Given the description of an element on the screen output the (x, y) to click on. 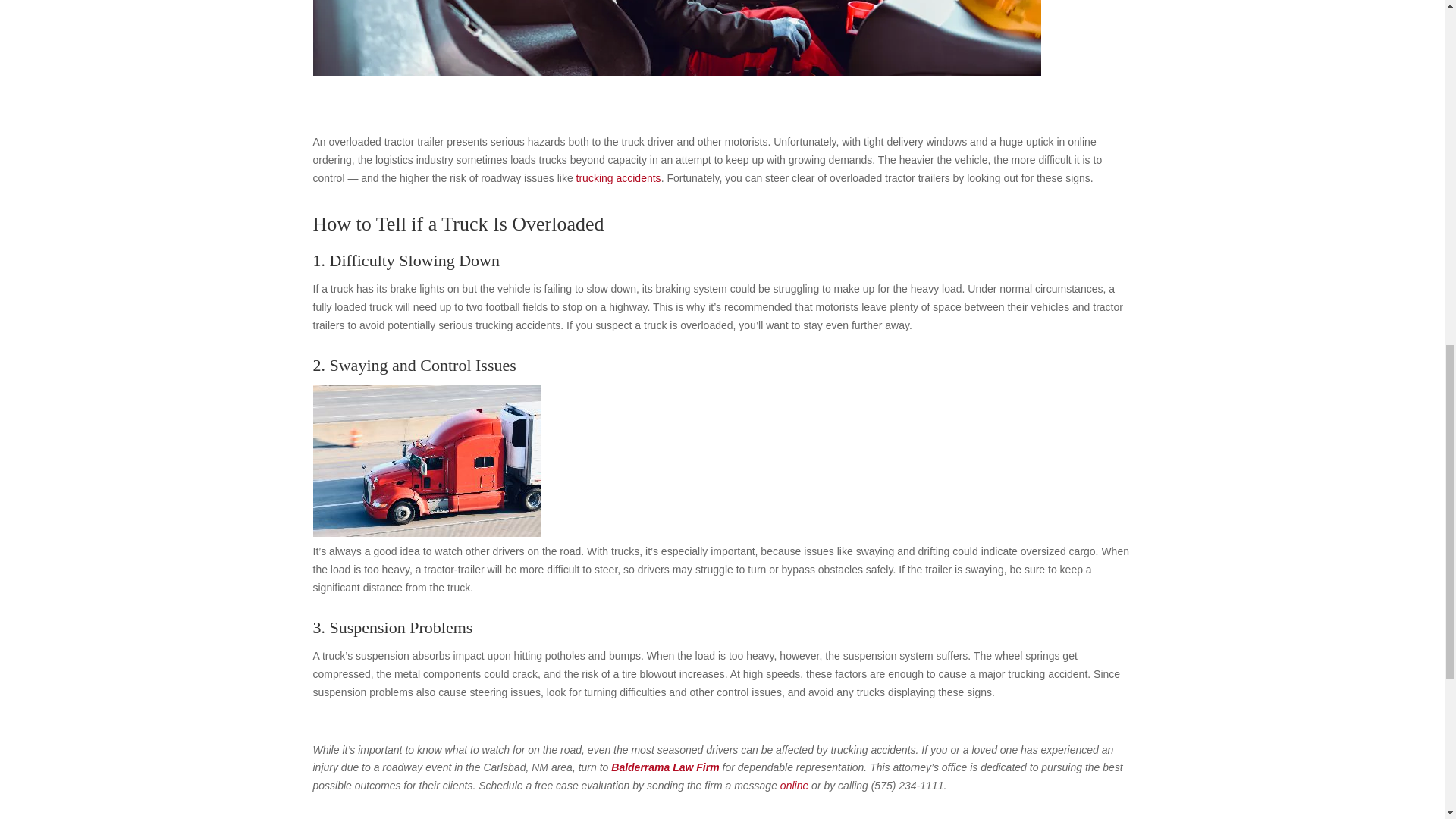
gettyimages-1299297909.PXhGD4hKk.jpg (677, 38)
